Given the description of an element on the screen output the (x, y) to click on. 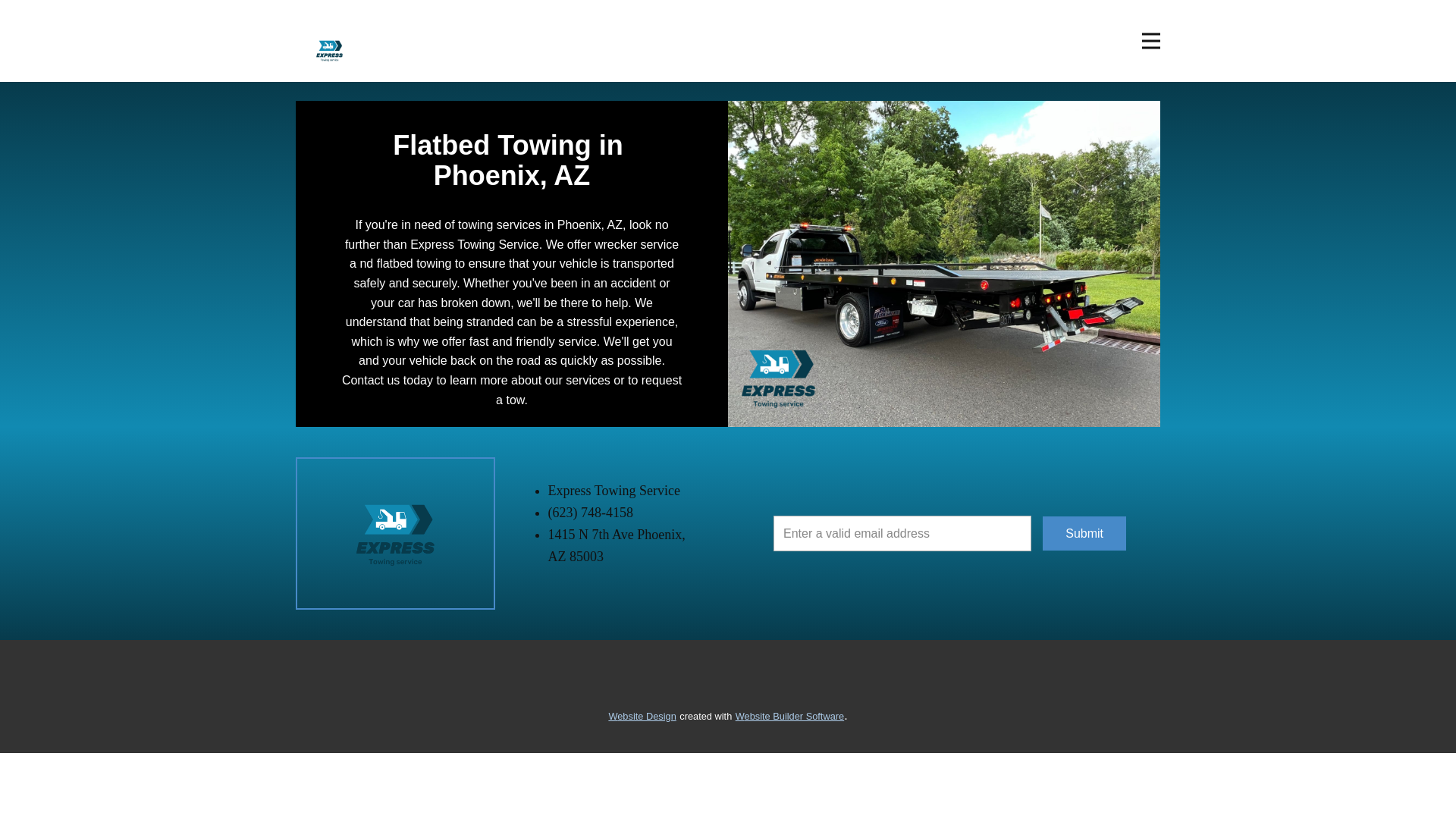
Submit (1083, 533)
Homepage (328, 50)
Website Builder Software (789, 715)
Website Design (641, 715)
